Given the description of an element on the screen output the (x, y) to click on. 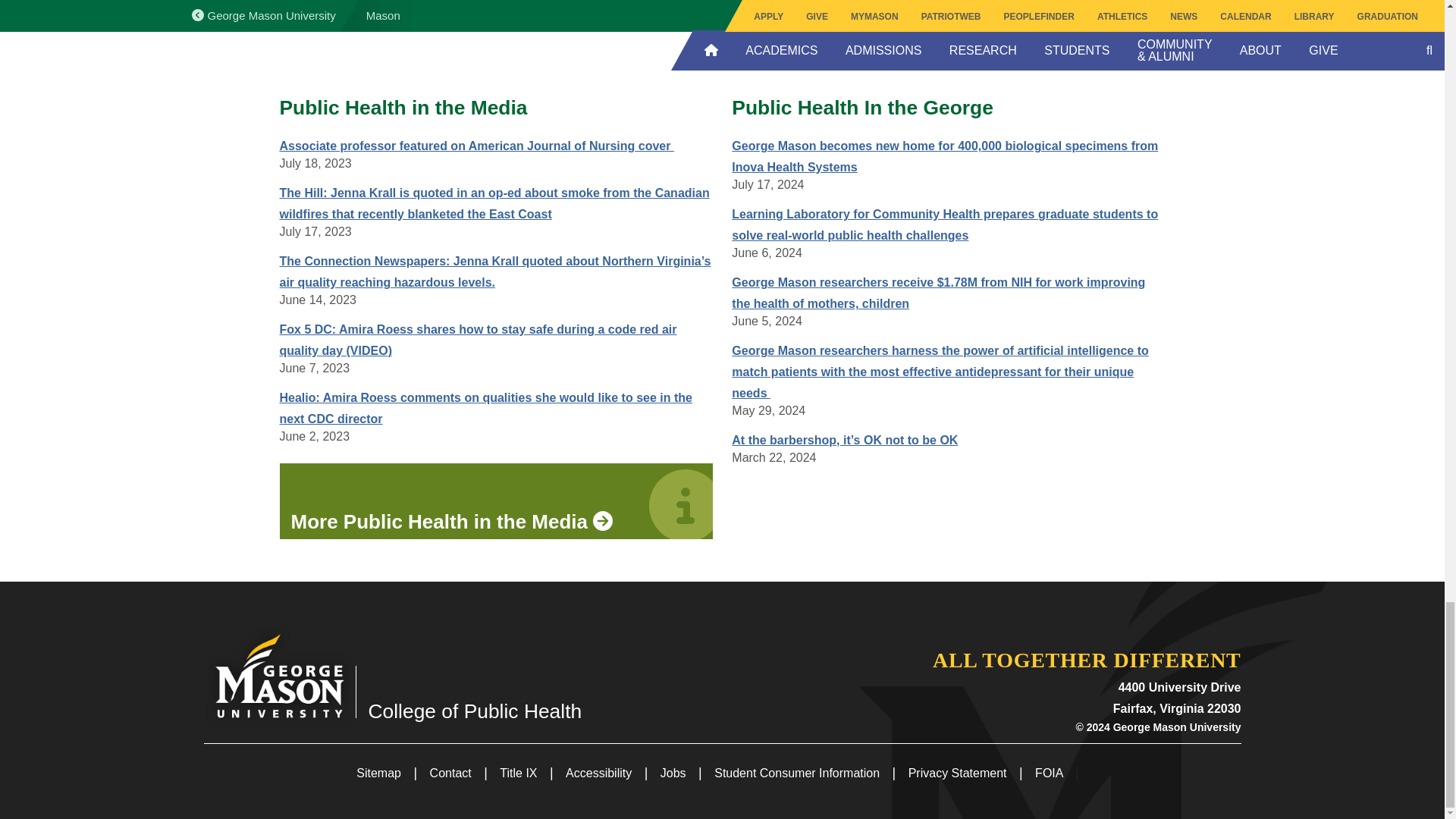
Go to last page (1031, 61)
Go to first page (706, 61)
Go to previous page (767, 61)
Go to next page (982, 61)
